Given the description of an element on the screen output the (x, y) to click on. 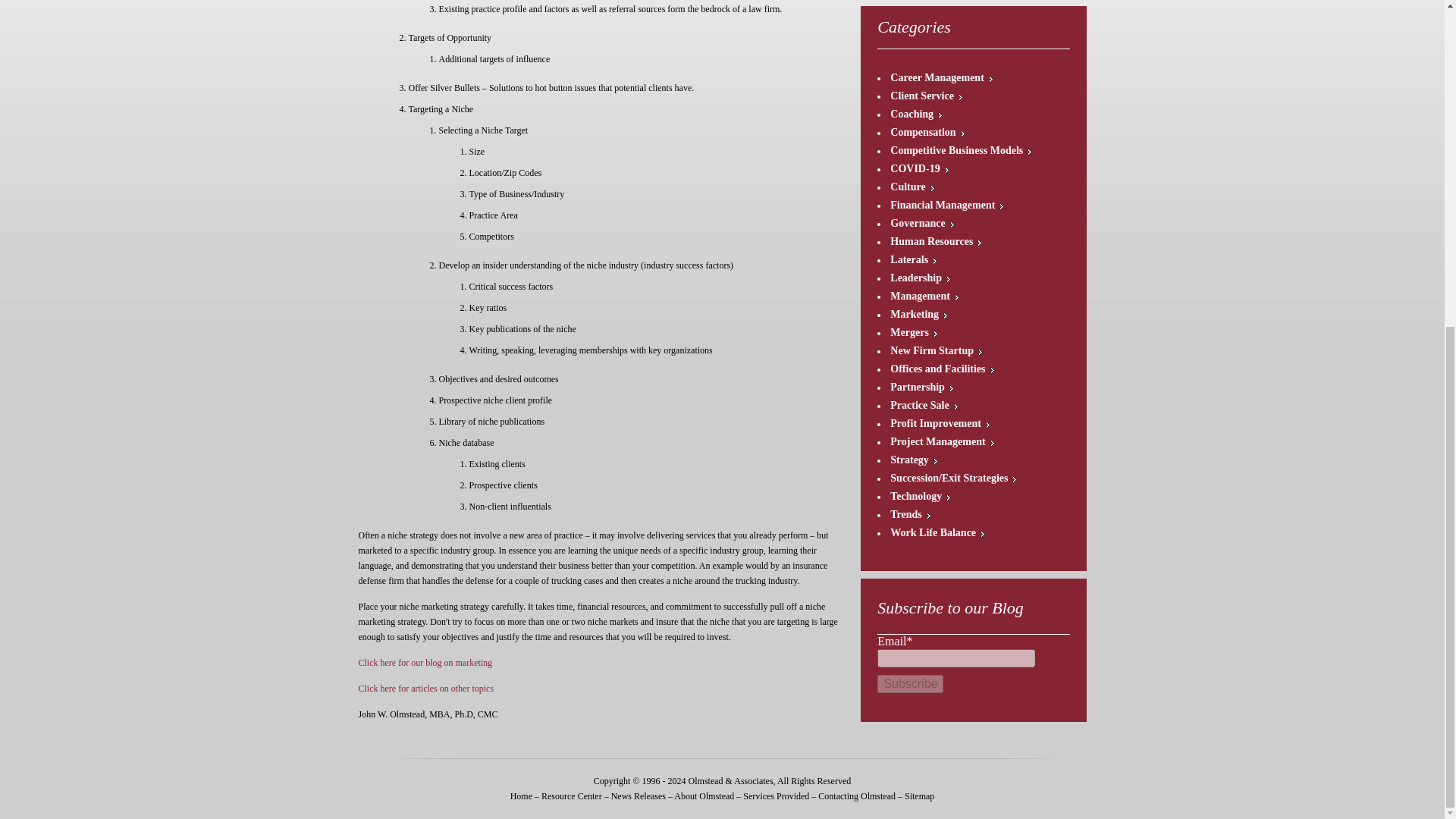
Subscribe (910, 683)
Click here for articles on other topics (425, 688)
Click here for our blog on marketing (425, 662)
